Given the description of an element on the screen output the (x, y) to click on. 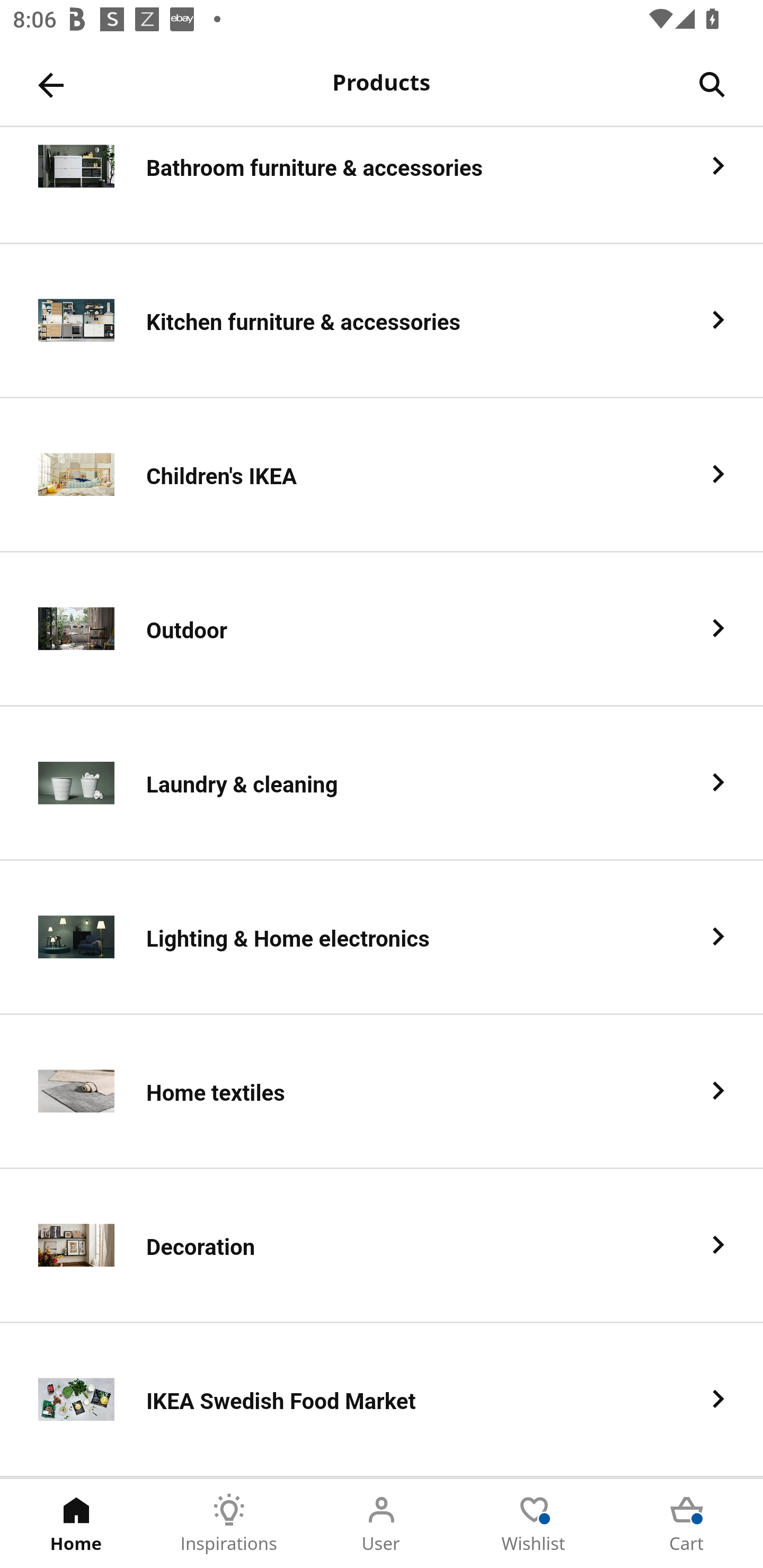
Bathroom furniture & accessories (381, 185)
Kitchen furniture & accessories (381, 321)
Children's IKEA (381, 474)
Outdoor (381, 629)
Laundry & cleaning (381, 783)
Lighting & Home electronics (381, 937)
Home textiles (381, 1091)
Decoration (381, 1246)
IKEA Swedish Food Market (381, 1400)
Home
Tab 1 of 5 (76, 1522)
Inspirations
Tab 2 of 5 (228, 1522)
User
Tab 3 of 5 (381, 1522)
Wishlist
Tab 4 of 5 (533, 1522)
Cart
Tab 5 of 5 (686, 1522)
